Given the description of an element on the screen output the (x, y) to click on. 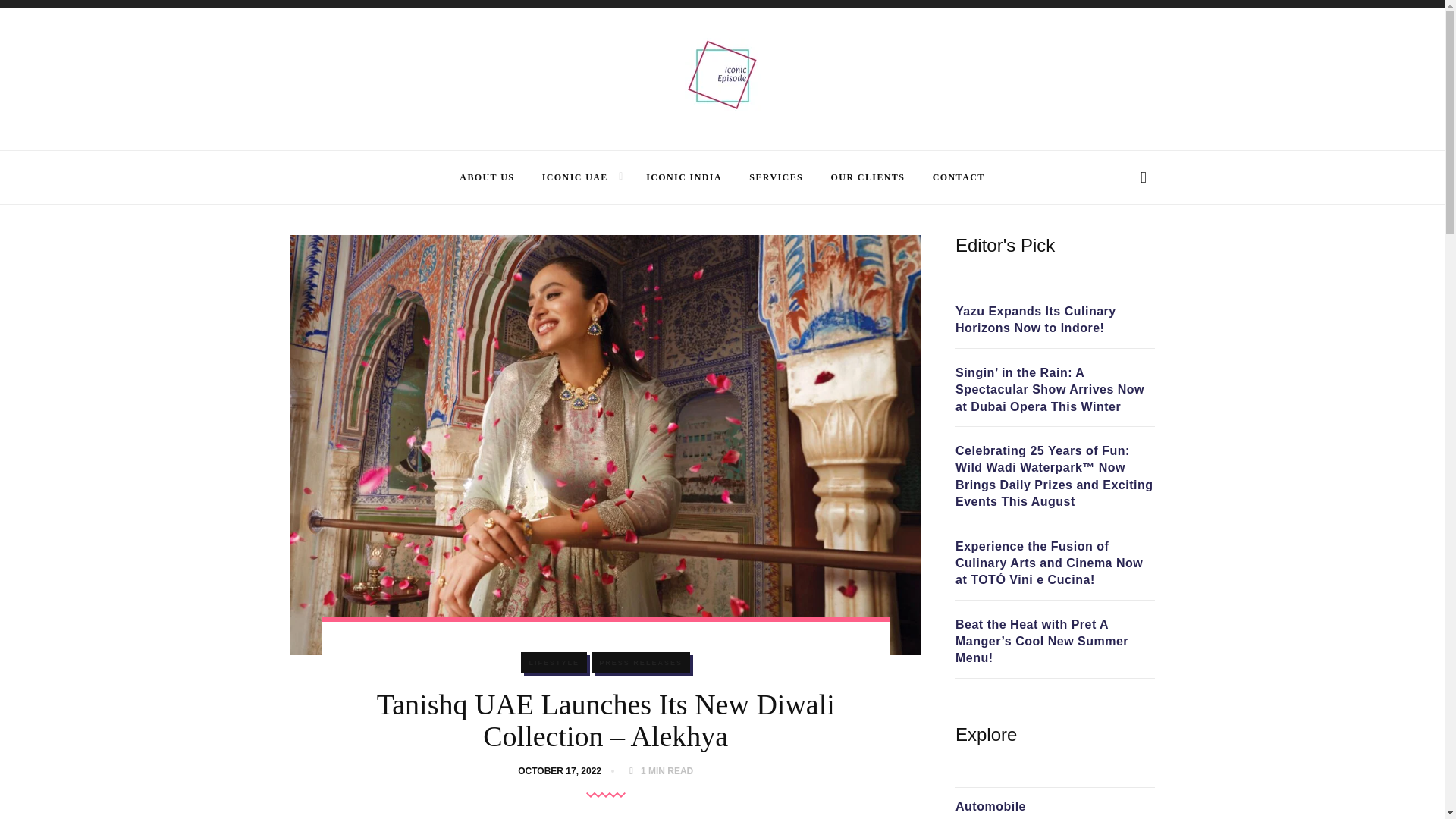
CONTACT (959, 176)
PRESS RELEASES (640, 662)
OCTOBER 17, 2022 (562, 770)
LIFESTYLE (553, 662)
ICONIC INDIA (684, 176)
OUR CLIENTS (868, 176)
SERVICES (776, 176)
ICONIC UAE (574, 176)
Yazu Expands Its Culinary Horizons Now to Indore! (1054, 320)
ABOUT US (486, 176)
